Given the description of an element on the screen output the (x, y) to click on. 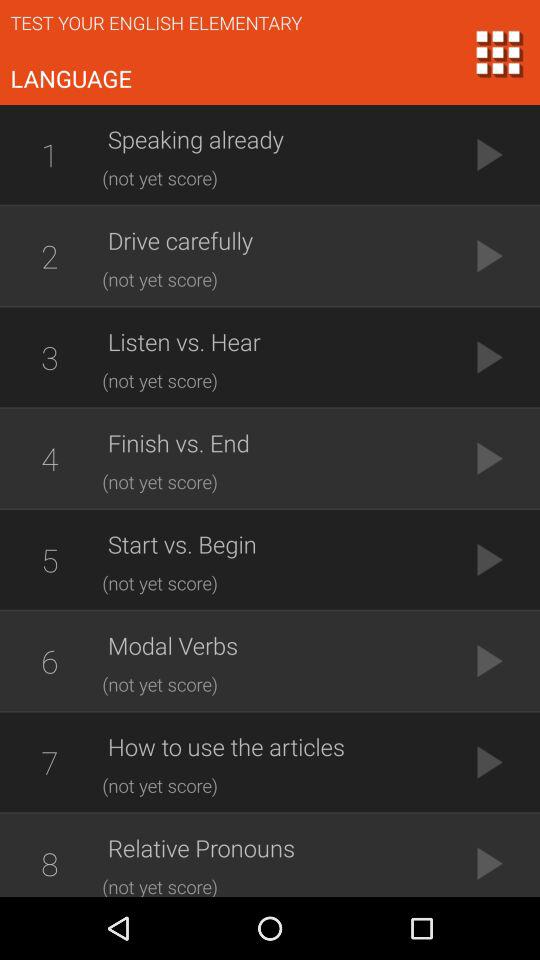
tap icon next to the  listen vs. hear (49, 357)
